Given the description of an element on the screen output the (x, y) to click on. 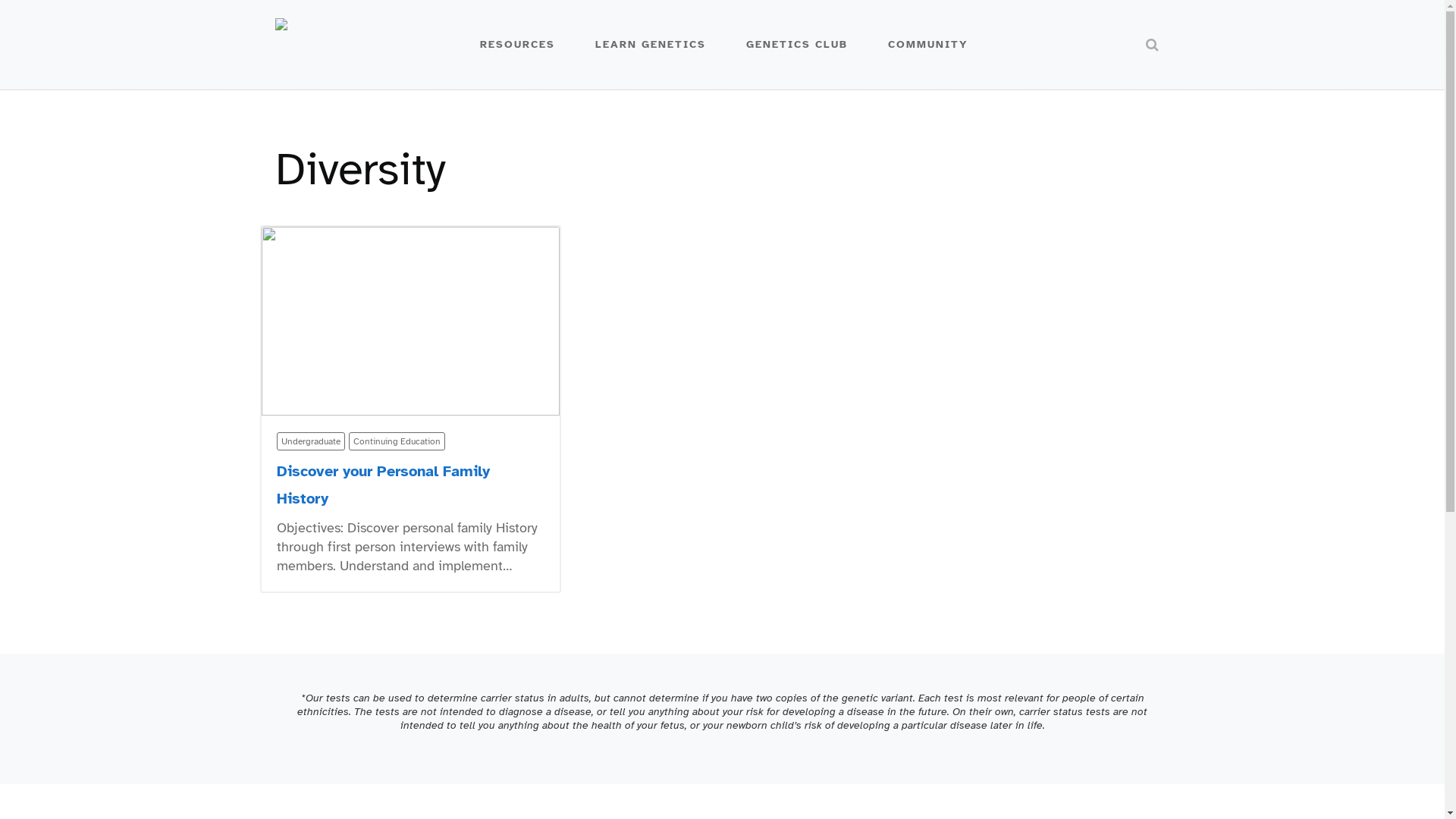
COMMUNITY Element type: text (931, 44)
RESOURCES Element type: text (520, 44)
LEARN GENETICS Element type: text (654, 44)
GENETICS CLUB Element type: text (800, 44)
Discover your Personal Family History Element type: text (382, 484)
